Given the description of an element on the screen output the (x, y) to click on. 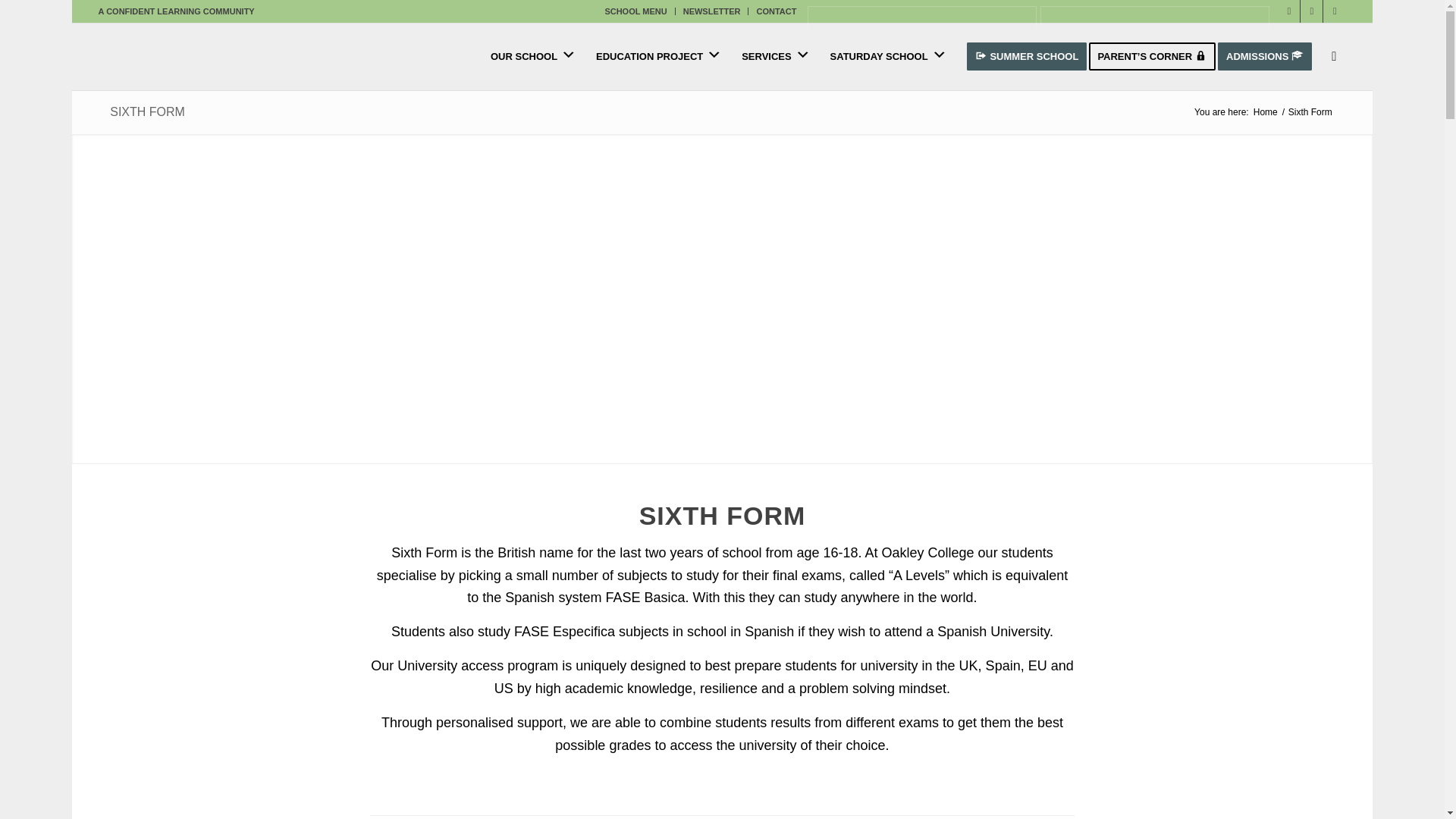
CONTACT (775, 11)
English (922, 63)
SERVICES (775, 56)
Oakley College (1264, 112)
NEWSLETTER (711, 11)
Permanent Link: Sixth Form (147, 111)
SCHOOL MENU (635, 11)
EDUCATION PROJECT (659, 56)
Education Project (659, 56)
Facebook (1289, 11)
